Given the description of an element on the screen output the (x, y) to click on. 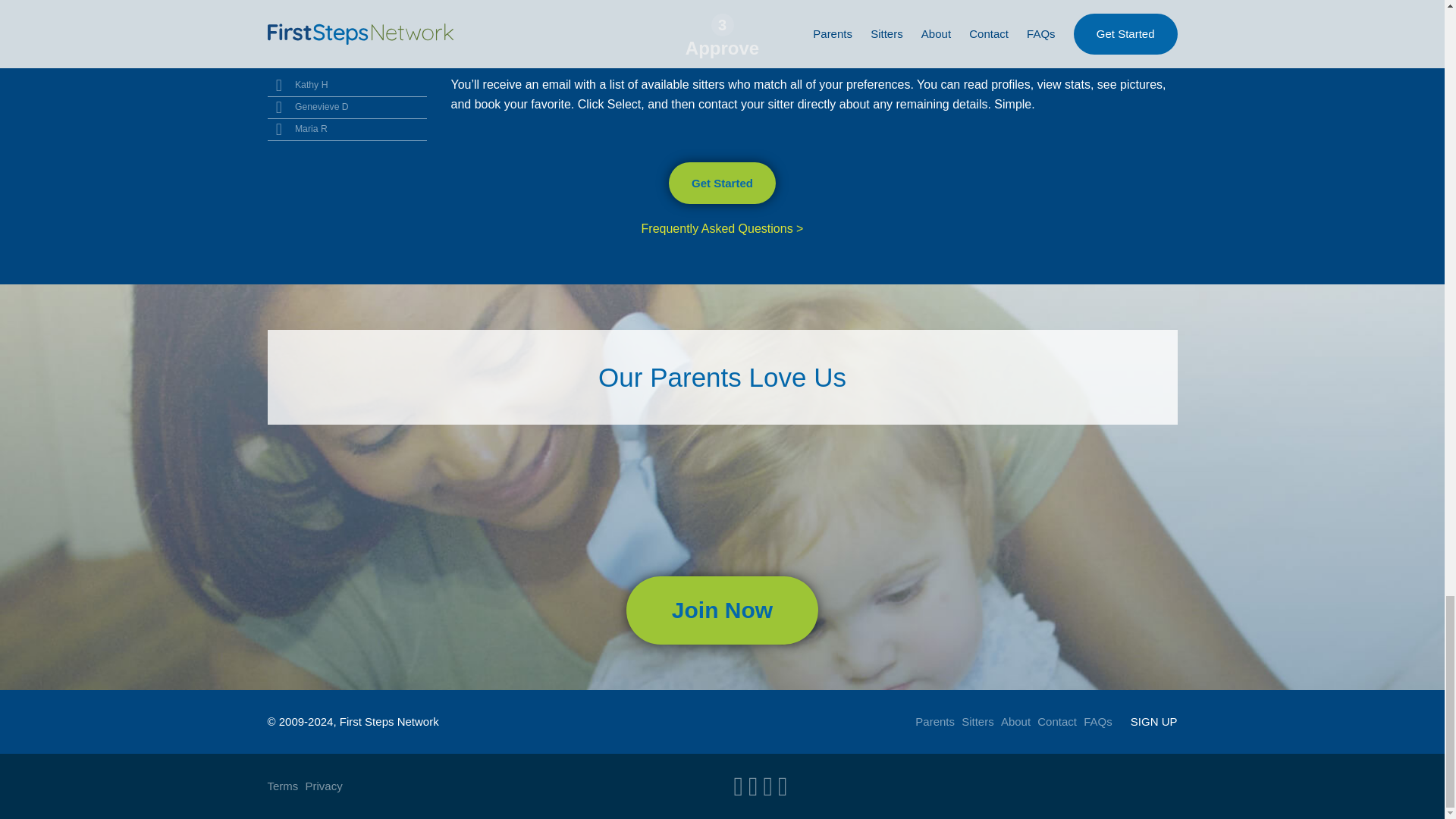
About (1015, 721)
Terms (282, 785)
Contact (1056, 721)
Privacy (323, 785)
Get Started (722, 182)
Join Now (722, 610)
Parents (935, 721)
FAQs (1097, 721)
SIGN UP (1154, 721)
Sitters (977, 721)
